Given the description of an element on the screen output the (x, y) to click on. 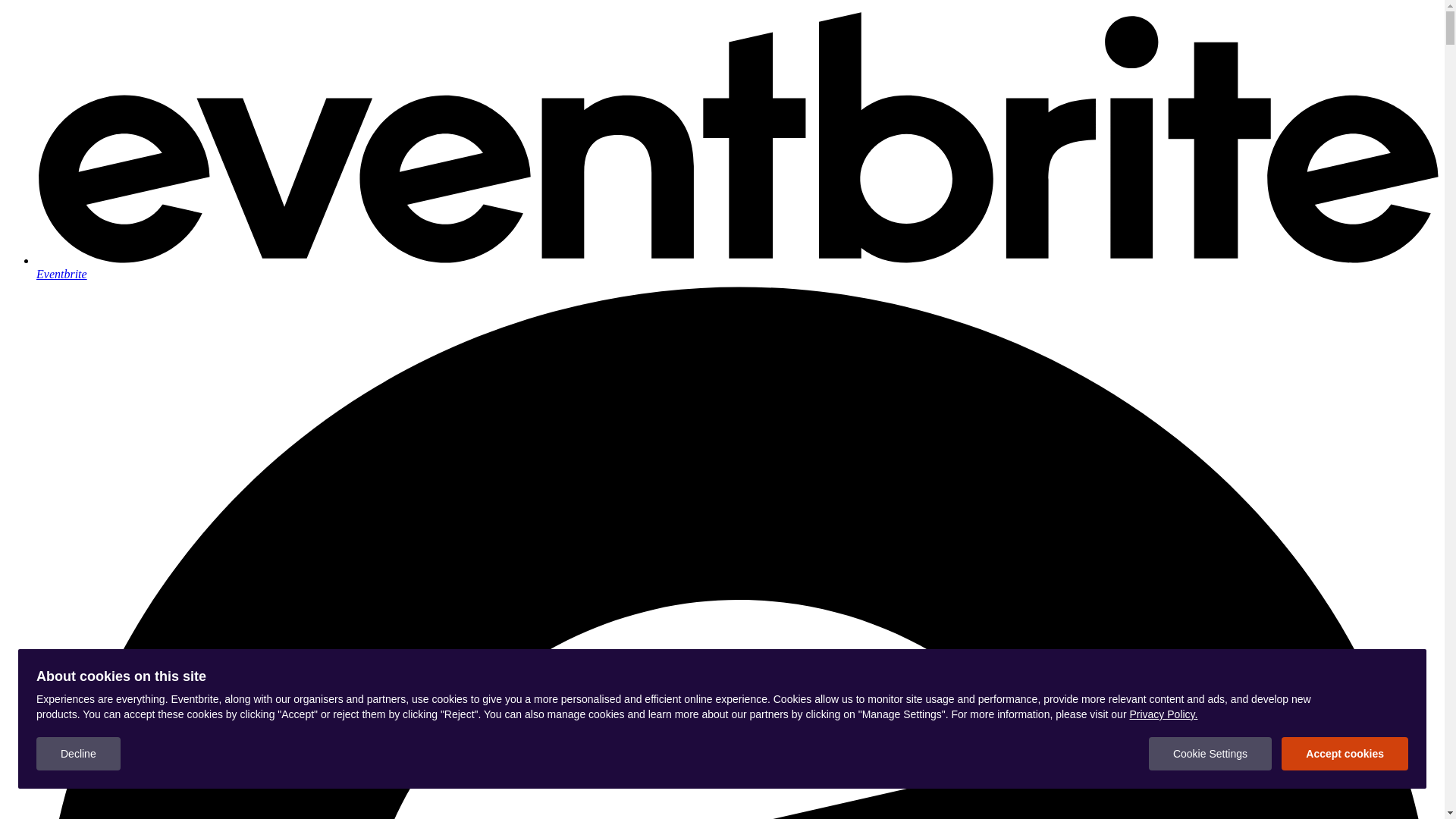
Accept cookies Element type: text (1344, 753)
Decline Element type: text (78, 753)
Privacy Policy. Element type: text (1163, 714)
Eventbrite Element type: text (737, 267)
Cookie Settings Element type: text (1209, 753)
